Given the description of an element on the screen output the (x, y) to click on. 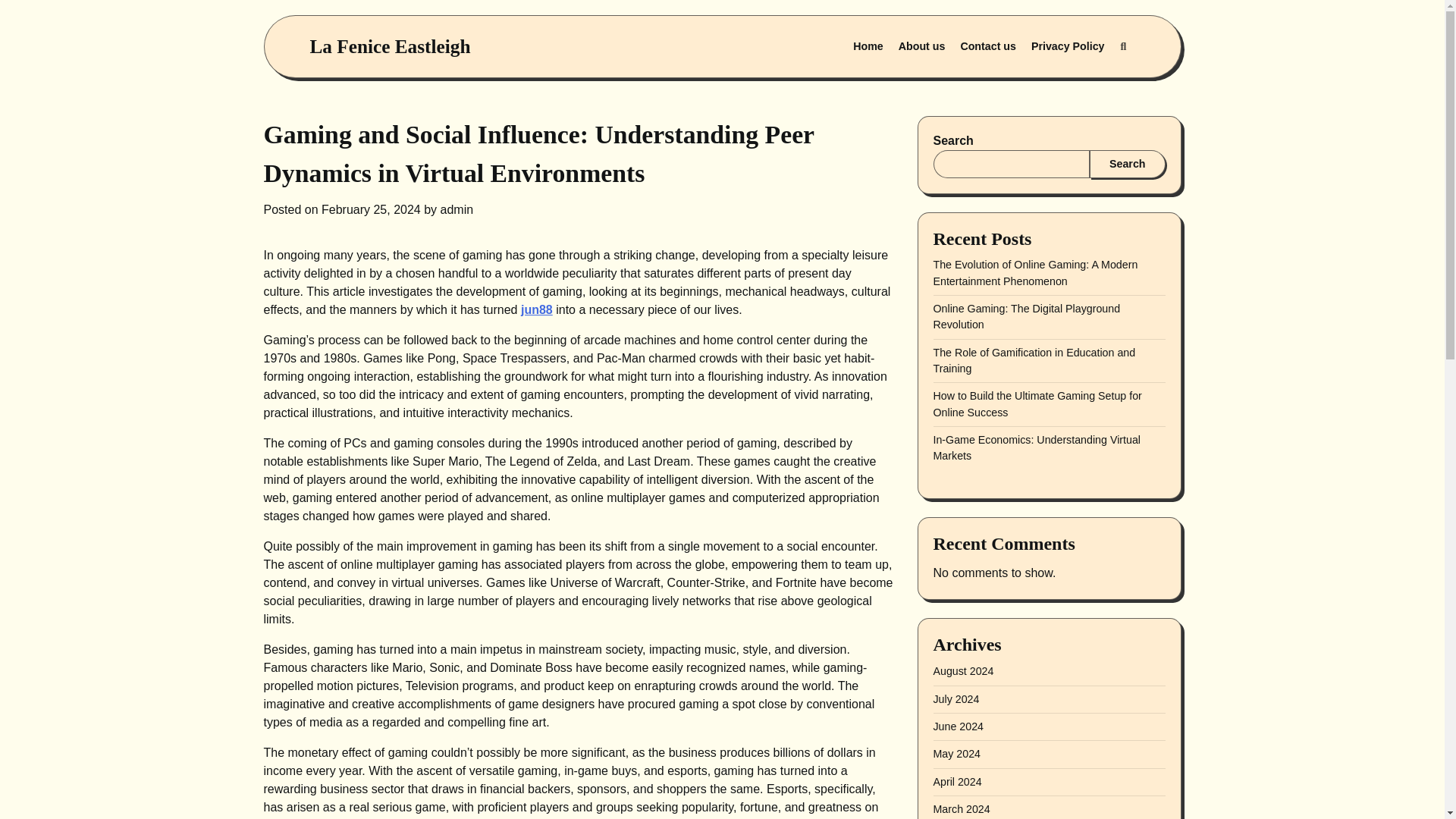
How to Build the Ultimate Gaming Setup for Online Success (1037, 403)
La Fenice Eastleigh (389, 46)
Search (1123, 47)
Home (868, 46)
March 2024 (961, 808)
April 2024 (957, 781)
Contact us (987, 46)
jun88 (537, 309)
In-Game Economics: Understanding Virtual Markets (1036, 447)
August 2024 (962, 671)
Search (1086, 83)
Online Gaming: The Digital Playground Revolution (1026, 316)
February 25, 2024 (370, 209)
Privacy Policy (1067, 46)
About us (922, 46)
